Given the description of an element on the screen output the (x, y) to click on. 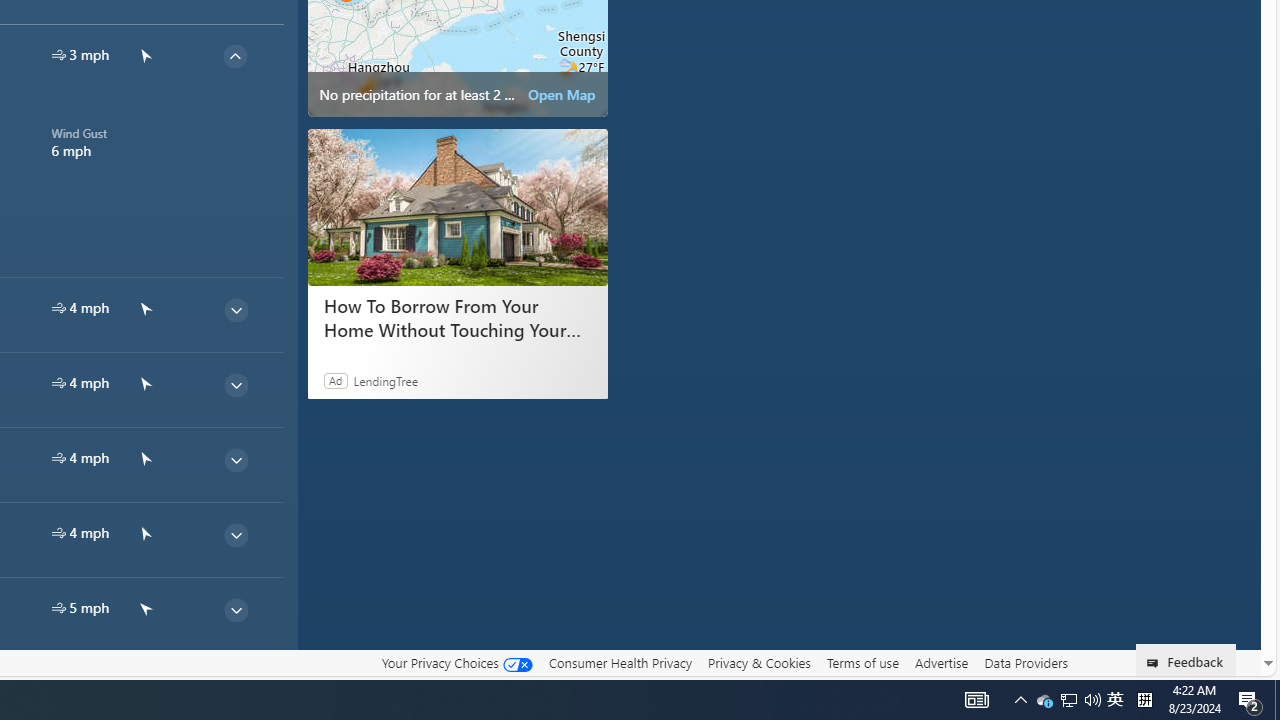
hourlyTable/wind (58, 607)
LendingTree (385, 380)
common/arrow (143, 682)
Data Providers (1025, 662)
